Given the description of an element on the screen output the (x, y) to click on. 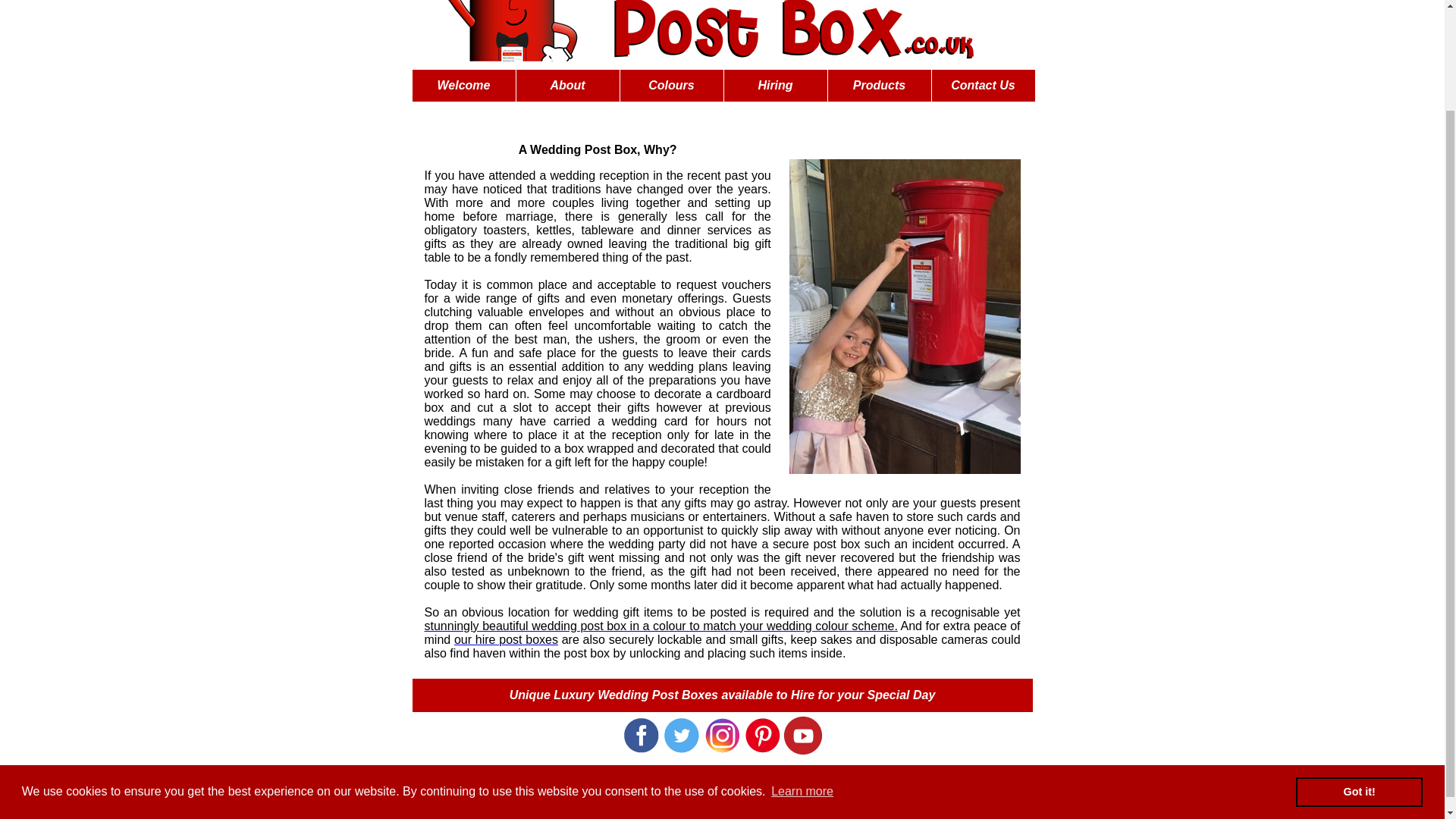
our hire post boxes (505, 639)
Welcome (463, 85)
Privacy Policy (722, 792)
Contact Us (982, 85)
Colours (671, 85)
Learn more (801, 671)
About (566, 85)
Products (879, 85)
Got it! (1358, 672)
Hiring (775, 85)
